Given the description of an element on the screen output the (x, y) to click on. 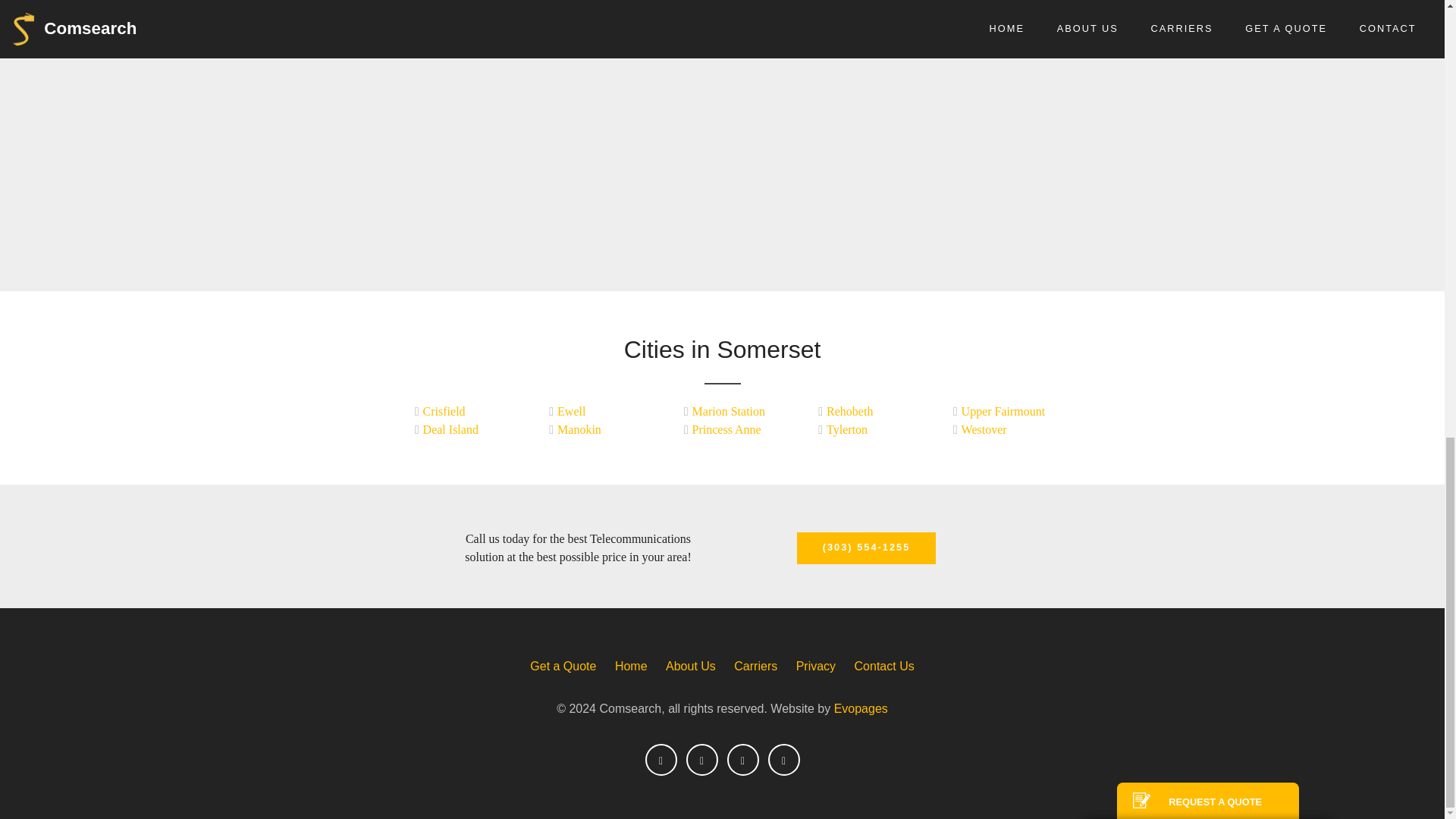
Get a Quote (562, 666)
Find us on Facebook (661, 759)
Upper Fairmount (999, 411)
Manokin (595, 429)
Westover (999, 429)
Carriers (755, 666)
Rehobeth (864, 411)
 Send  (1207, 175)
 Send  (1207, 175)
Tylerton (864, 429)
Ewell (595, 411)
Privacy (815, 666)
Google Plus (783, 759)
About Us (690, 666)
Contact Us (884, 666)
